Given the description of an element on the screen output the (x, y) to click on. 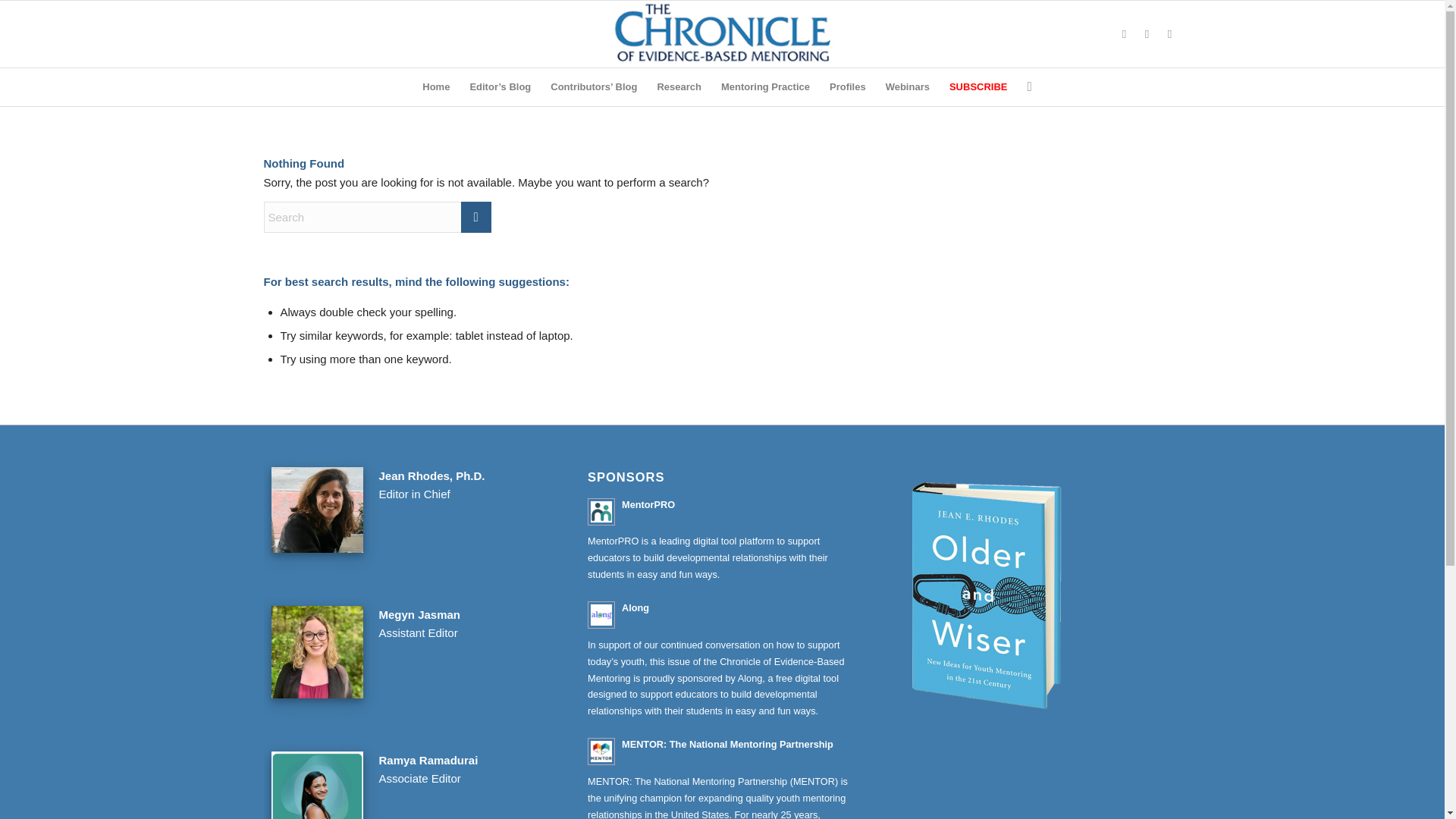
Research (678, 86)
Read: MENTOR: The National Mentoring Partnership (601, 750)
Read: MENTOR: The National Mentoring Partnership (726, 744)
Webinars (907, 86)
chron-logo (721, 33)
X (1124, 33)
Read: Along (601, 614)
Mentoring Practice (765, 86)
Read: MentorPRO (601, 511)
Profiles (847, 86)
MentorPRO (648, 504)
SUBSCRIBE (978, 86)
Read: MentorPRO (648, 504)
Click to start search (476, 216)
Home (436, 86)
